Given the description of an element on the screen output the (x, y) to click on. 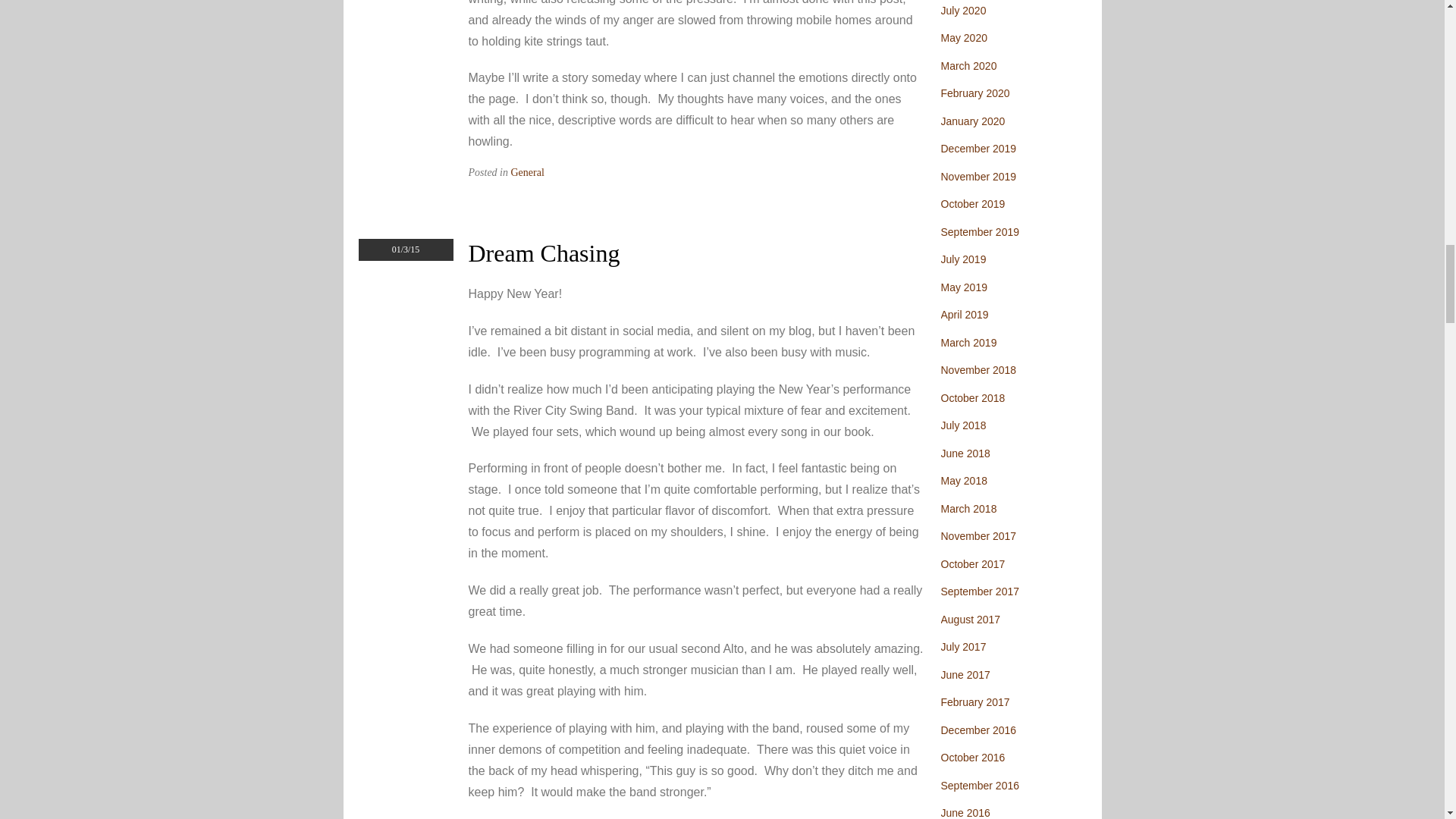
Dream Chasing (544, 252)
Permalink to Dream Chasing (544, 252)
General (527, 172)
